Given the description of an element on the screen output the (x, y) to click on. 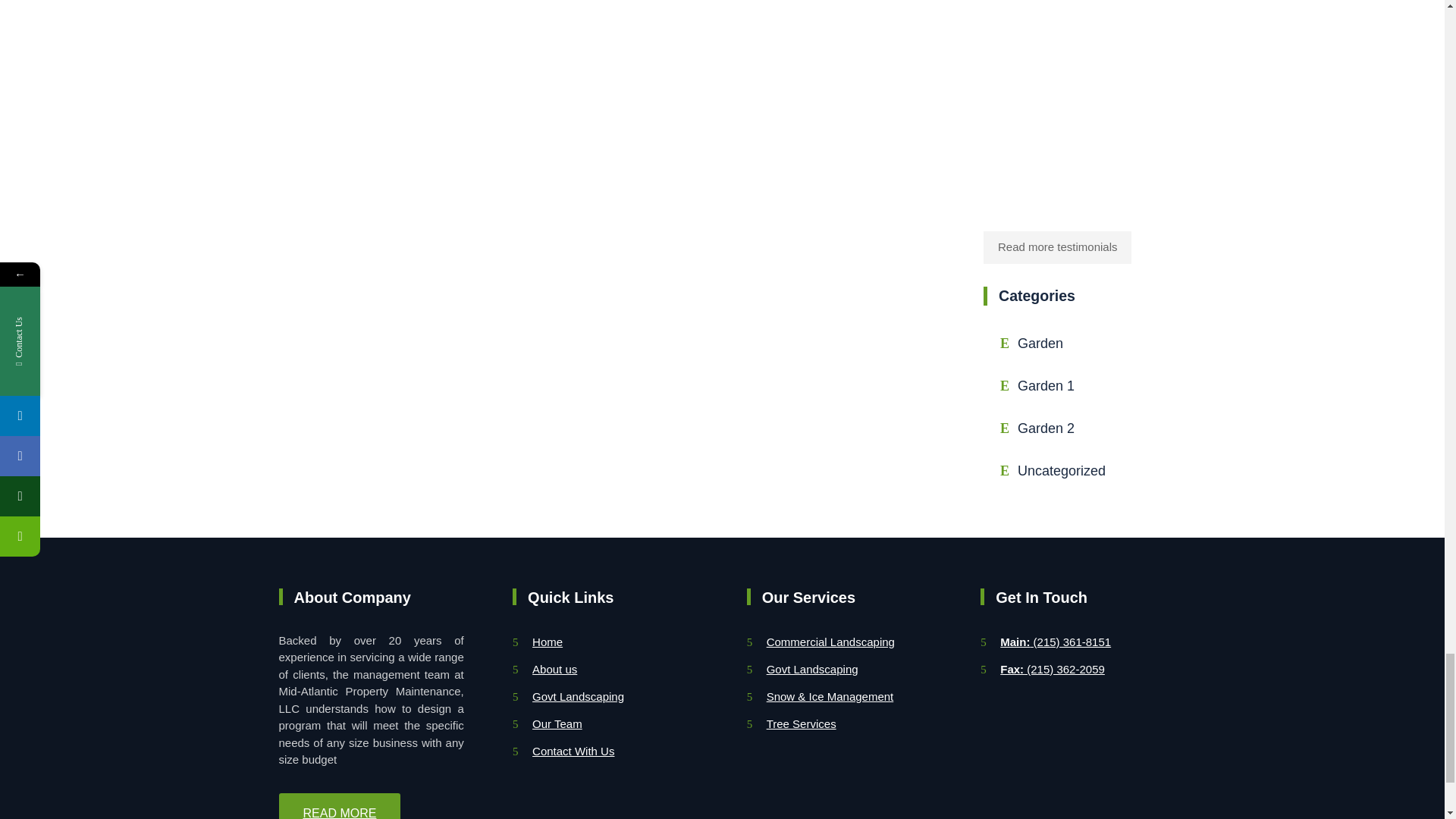
Read more testimonials (1057, 246)
Garden (1057, 343)
